Given the description of an element on the screen output the (x, y) to click on. 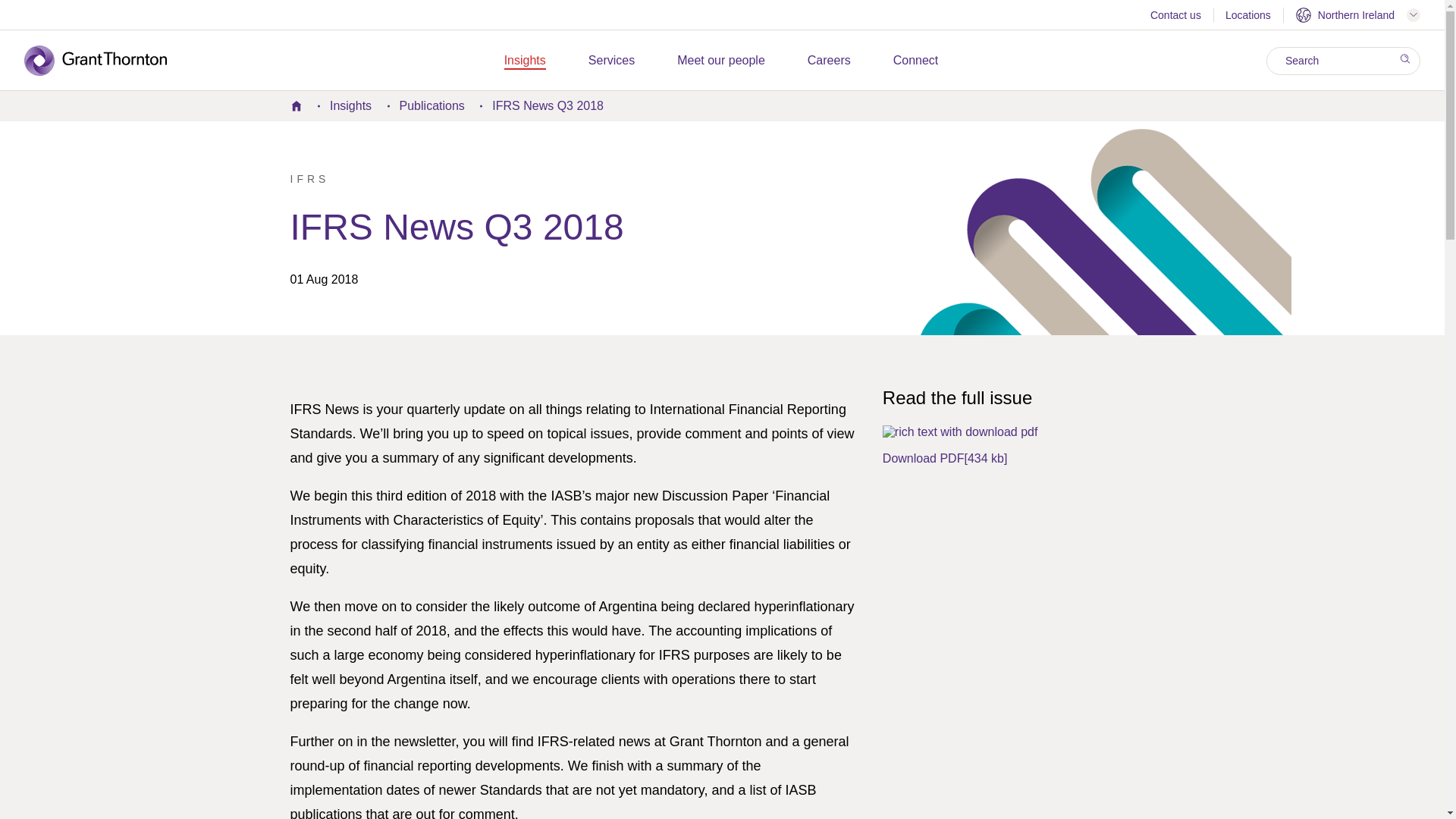
open a new window - Contact us (1175, 17)
Locations (1248, 17)
Contact us (1175, 17)
Explore the Grant Thornton network (1358, 14)
Northern Ireland (1358, 14)
logo (105, 60)
Careers (829, 60)
Meet our people (721, 60)
Connect (916, 60)
Insights (524, 60)
